Given the description of an element on the screen output the (x, y) to click on. 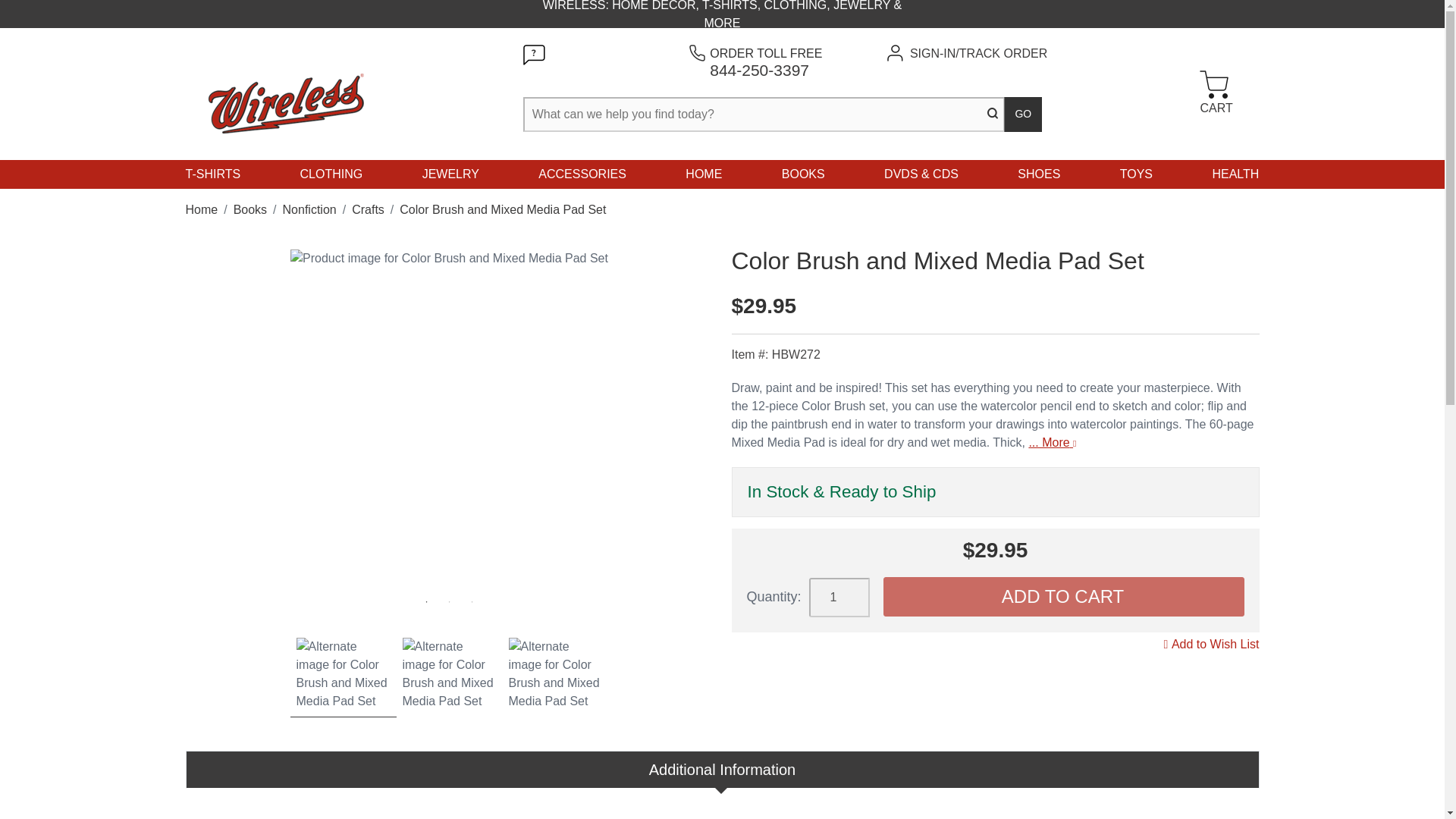
T-SHIRTS (212, 174)
1 (839, 597)
HOME (703, 174)
GO (766, 60)
CLOTHING (1023, 114)
CART (330, 174)
JEWELRY (1214, 93)
ACCESSORIES (450, 174)
